Given the description of an element on the screen output the (x, y) to click on. 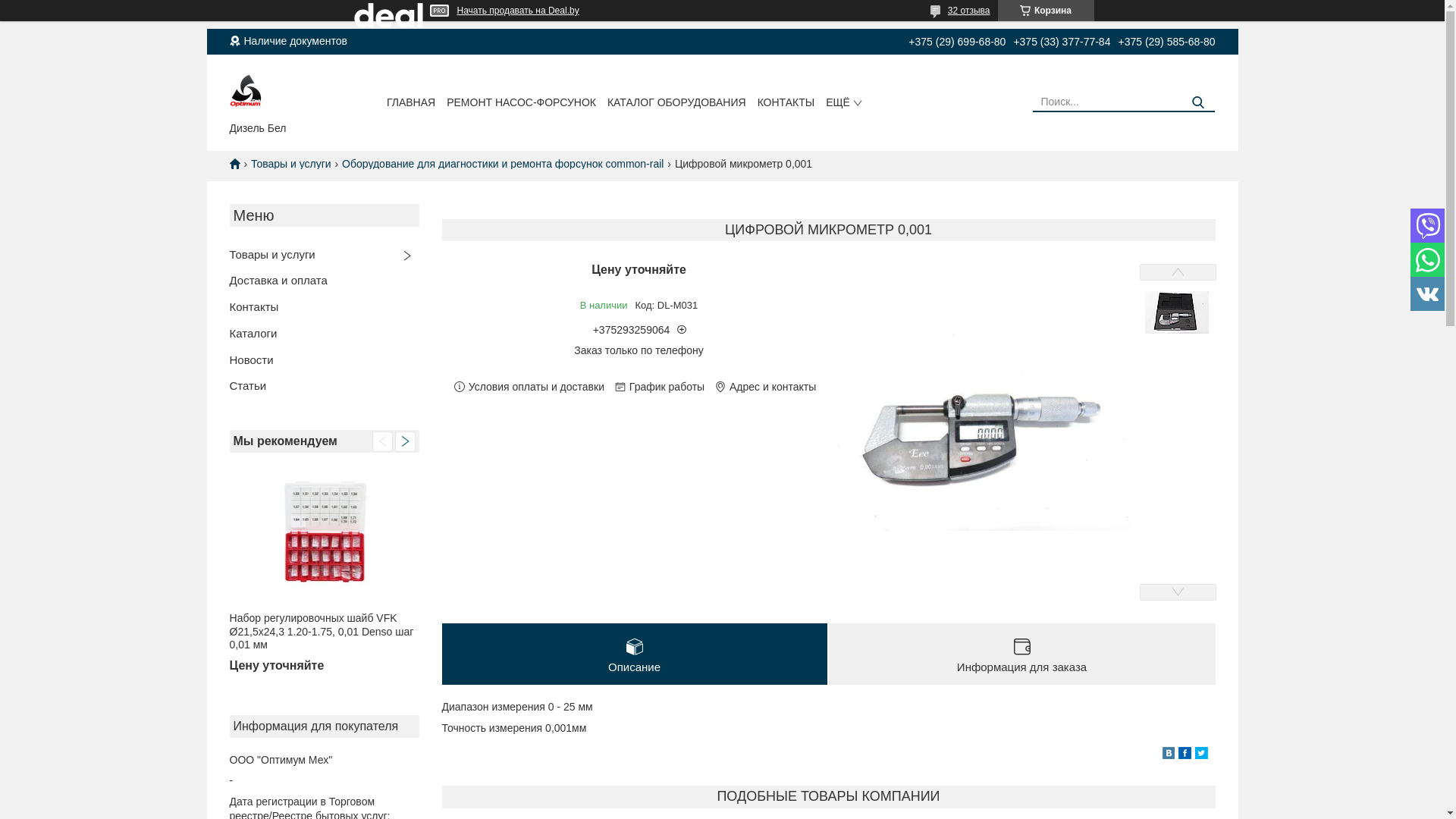
twitter Element type: hover (1201, 755)
facebook Element type: hover (1184, 755)
